Given the description of an element on the screen output the (x, y) to click on. 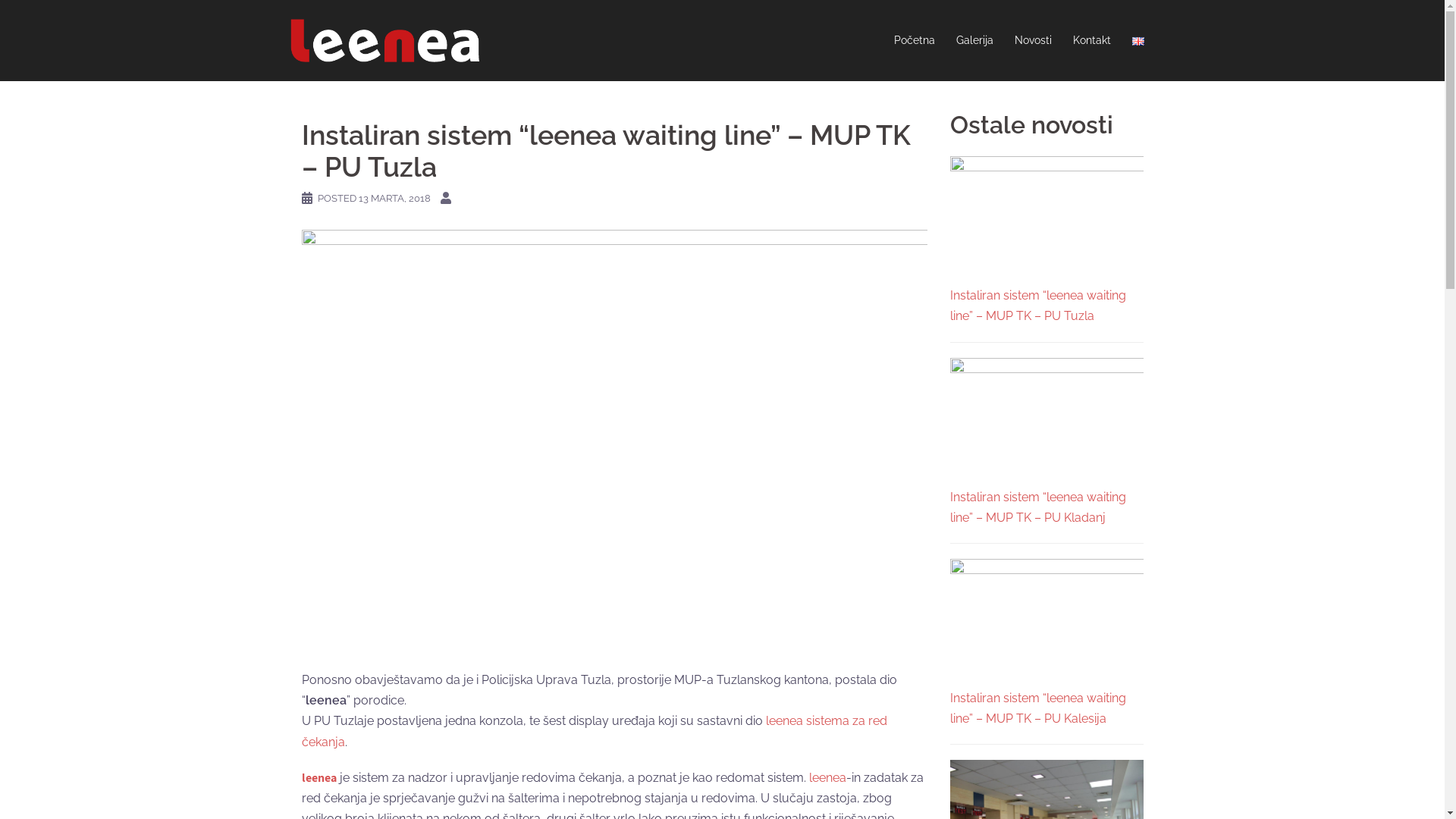
Kontakt Element type: text (1091, 40)
leenea Element type: hover (384, 39)
leenea Element type: text (318, 777)
Skip to content Element type: text (0, 0)
Novosti Element type: text (1032, 40)
Galerija Element type: text (973, 40)
leenea Element type: text (826, 777)
13 MARTA, 2018 Element type: text (393, 197)
